Given the description of an element on the screen output the (x, y) to click on. 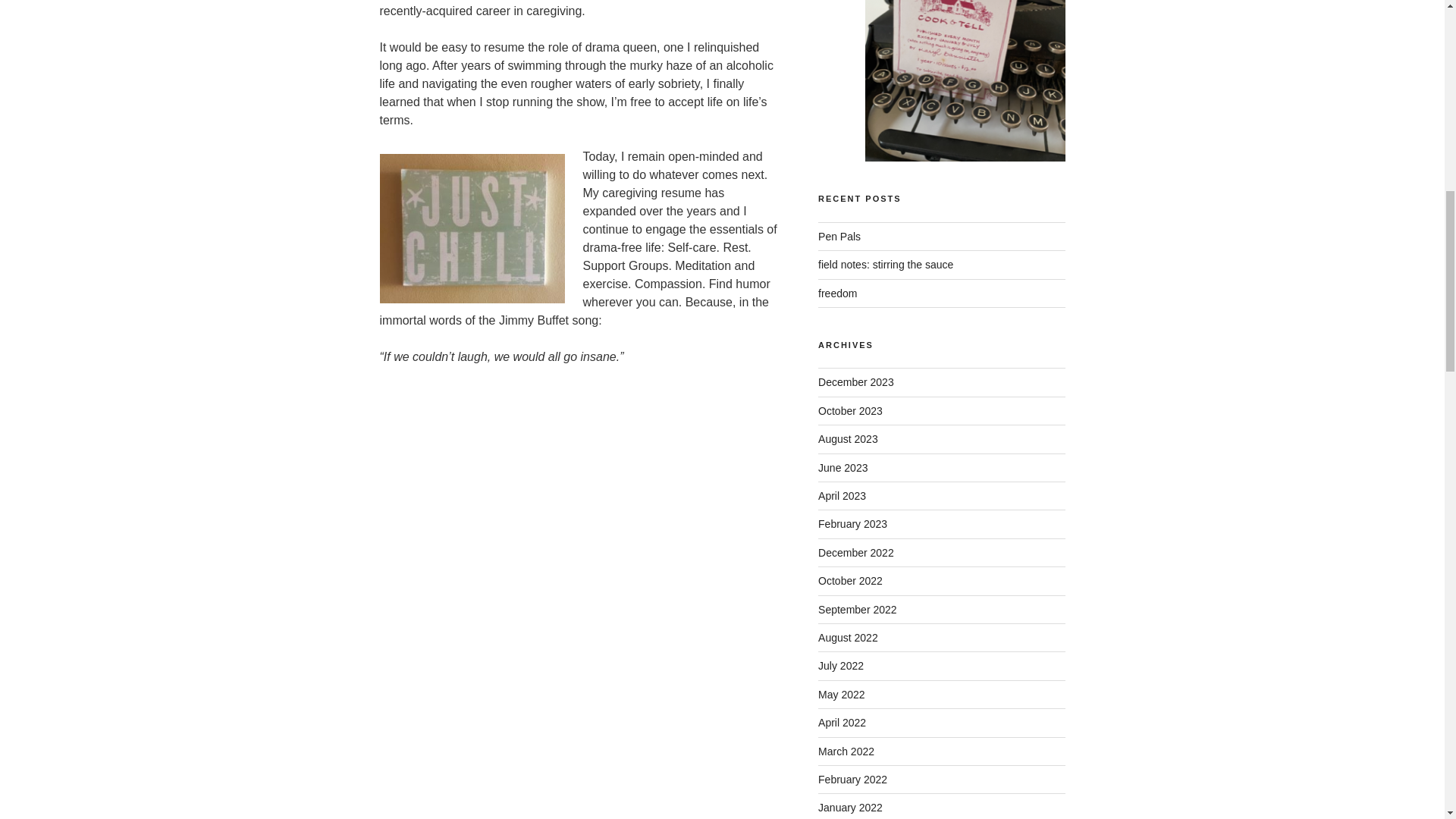
December 2022 (855, 552)
January 2022 (850, 807)
February 2023 (852, 523)
field notes: stirring the sauce (885, 264)
August 2023 (847, 439)
December 2023 (855, 381)
October 2023 (850, 410)
freedom (837, 293)
August 2022 (847, 637)
April 2022 (842, 722)
February 2022 (852, 779)
March 2022 (846, 751)
June 2023 (842, 467)
October 2022 (850, 580)
July 2022 (840, 665)
